Given the description of an element on the screen output the (x, y) to click on. 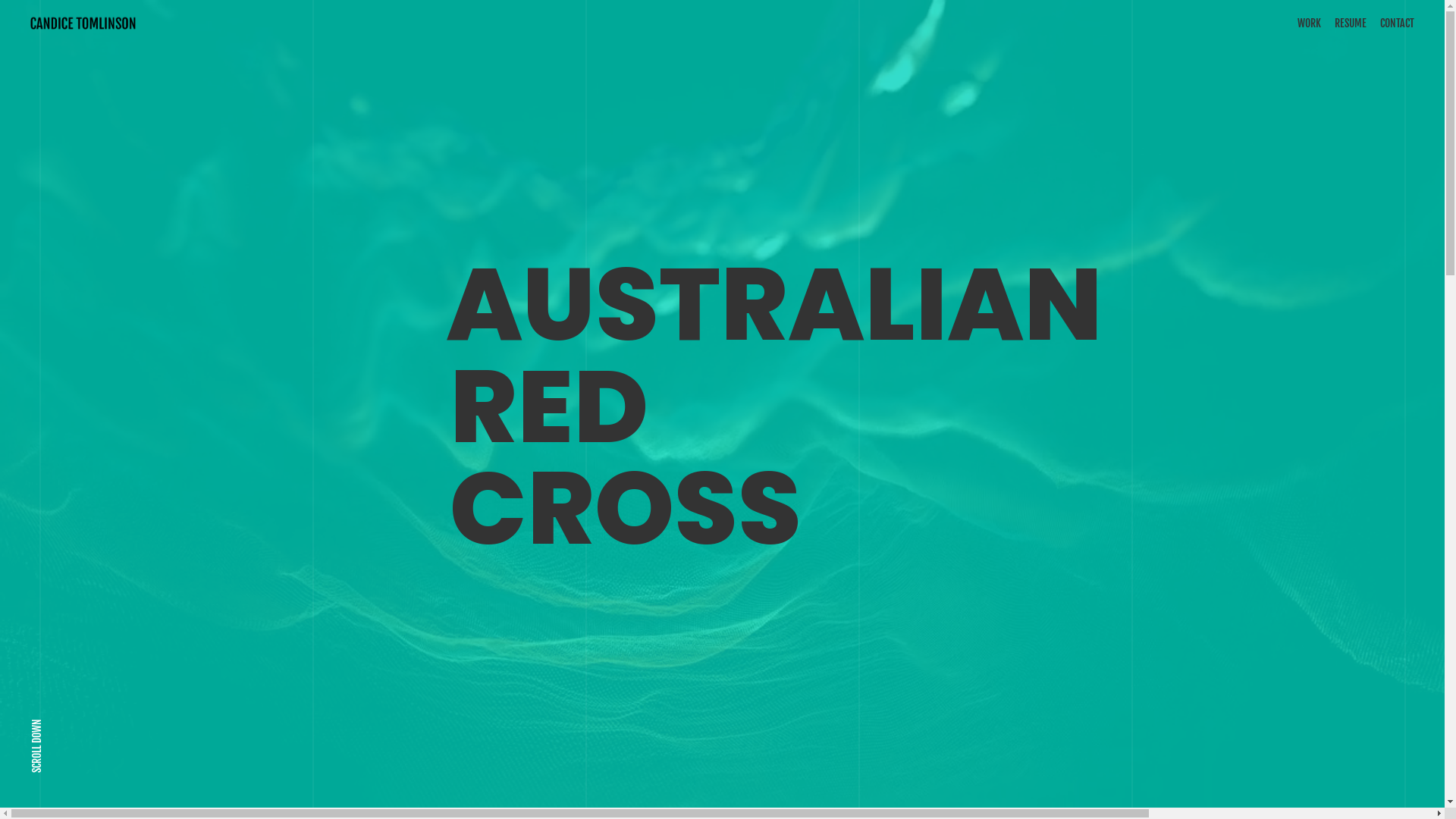
CONTACT Element type: text (1397, 25)
RESUME Element type: text (1350, 25)
WORK Element type: text (1309, 25)
